Given the description of an element on the screen output the (x, y) to click on. 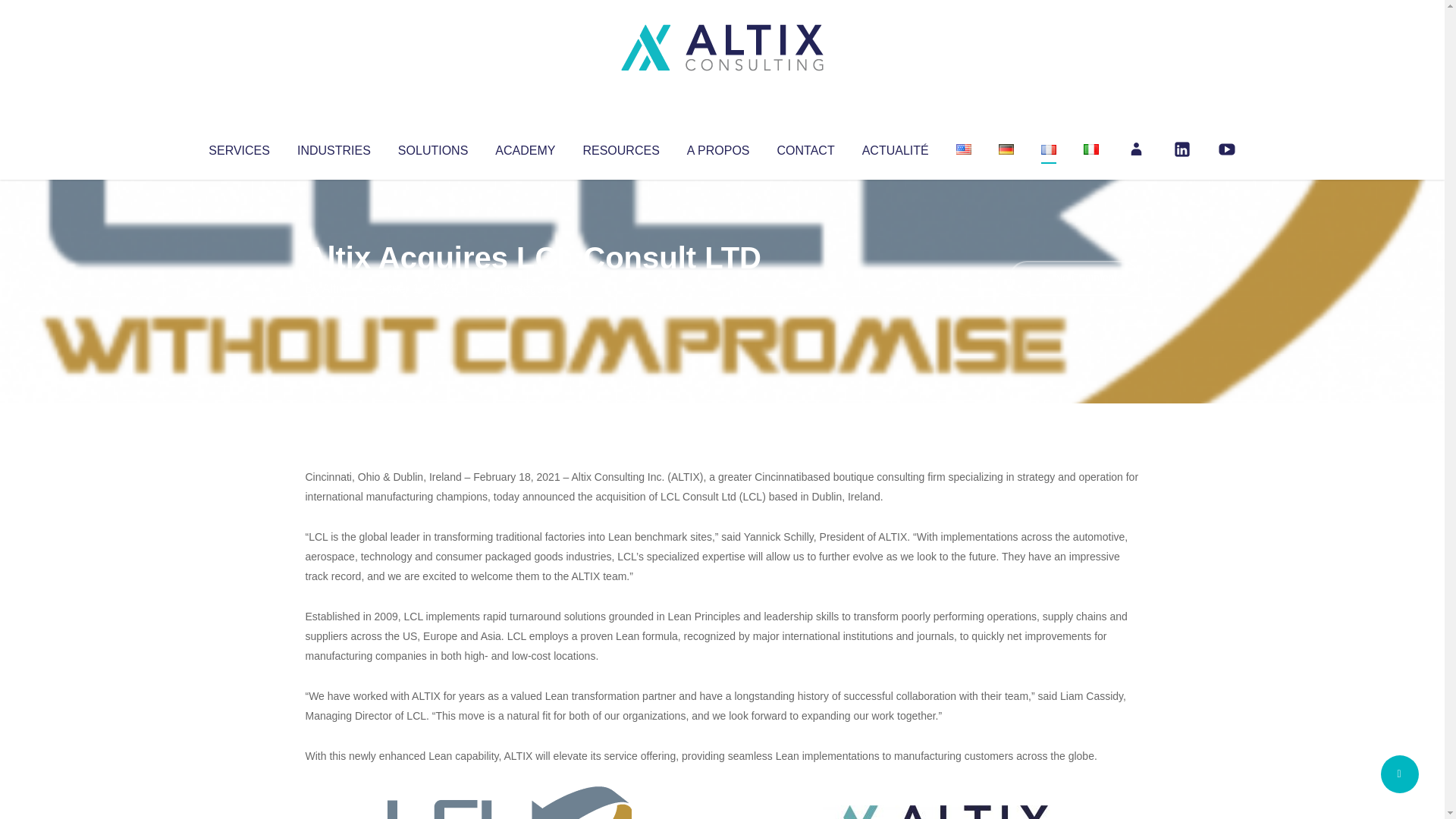
RESOURCES (620, 146)
No Comments (1073, 278)
SOLUTIONS (432, 146)
Uncategorized (530, 287)
ACADEMY (524, 146)
SERVICES (238, 146)
INDUSTRIES (334, 146)
Altix (333, 287)
Articles par Altix (333, 287)
A PROPOS (718, 146)
